Given the description of an element on the screen output the (x, y) to click on. 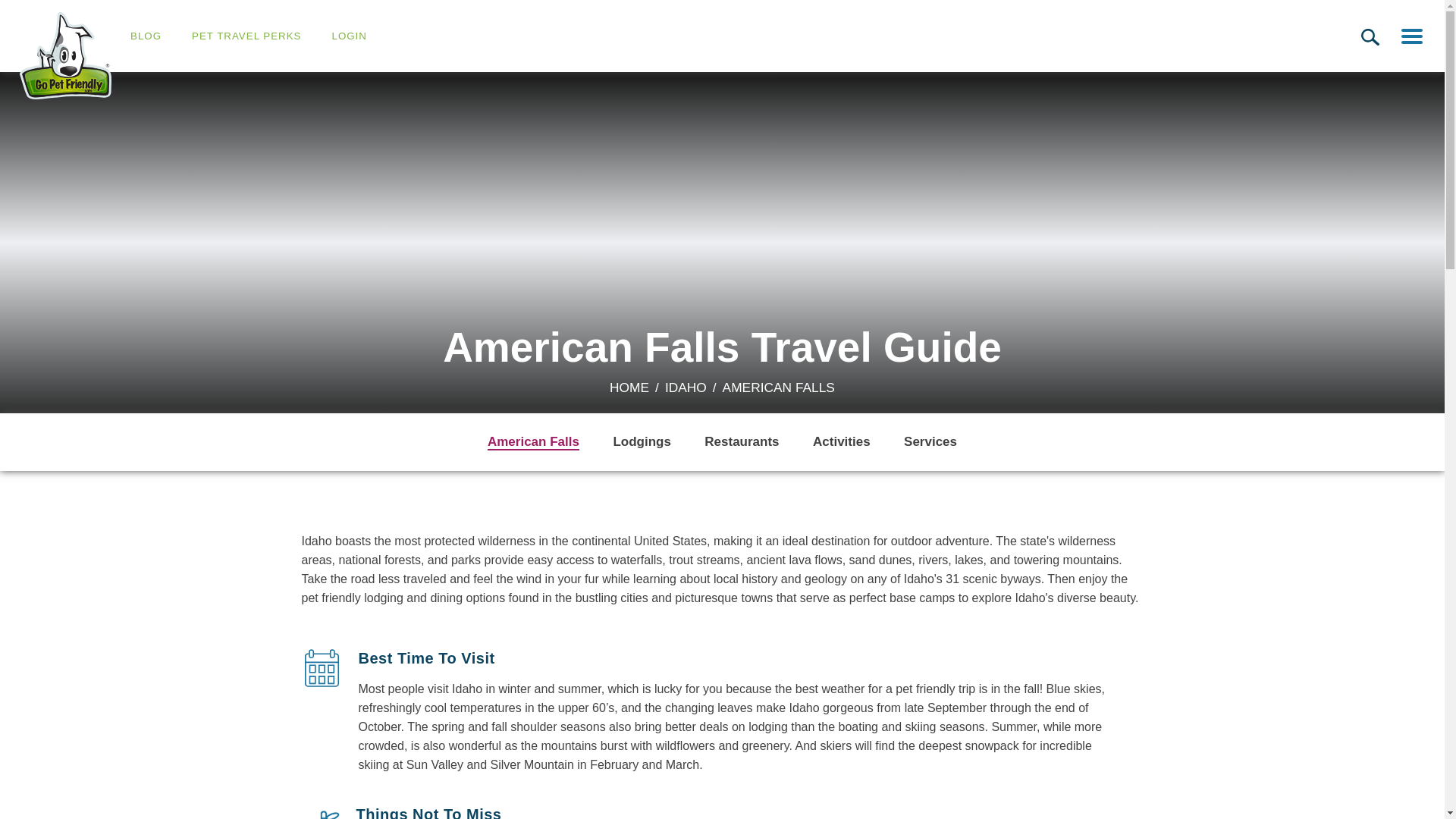
Transportation (321, 812)
BLOG (146, 35)
Search (1369, 36)
IDAHO (685, 387)
American Falls (533, 442)
Restaurants (741, 441)
Lodgings (640, 441)
Services (930, 441)
PET TRAVEL PERKS (246, 35)
Activities (841, 441)
GoPetFriendly - Do More Together (66, 55)
HOME (629, 387)
LOGIN (348, 35)
Best Time To Visit (321, 668)
